Given the description of an element on the screen output the (x, y) to click on. 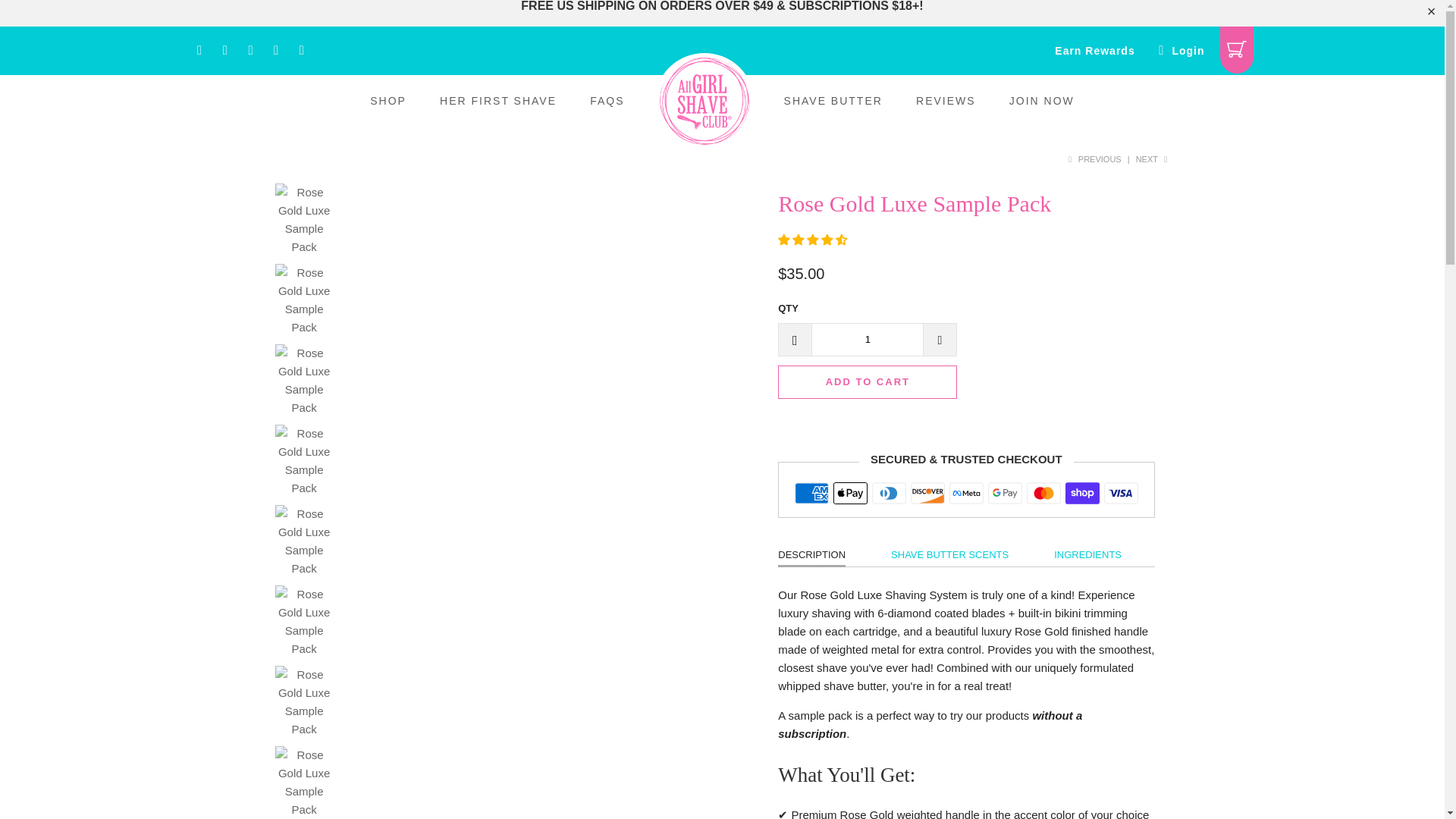
Previous (1092, 158)
American Express (811, 492)
REVIEWS (945, 100)
SHAVE BUTTER SCENTS (950, 554)
Visa (1120, 492)
NEXT (1152, 158)
ADD TO CART (866, 381)
Meta Pay (966, 492)
Earn Rewards (1094, 51)
SHOP (387, 100)
